Given the description of an element on the screen output the (x, y) to click on. 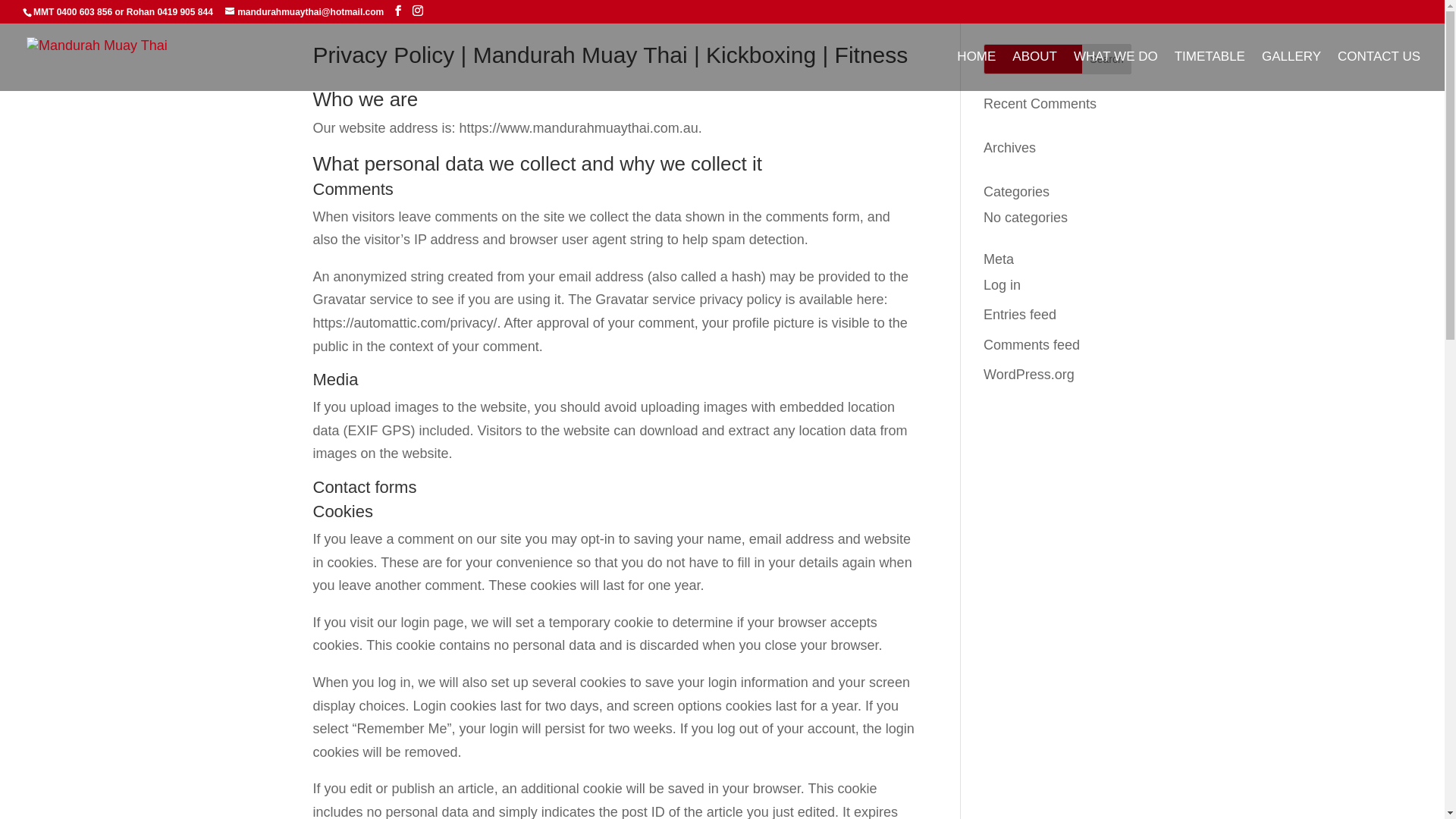
HOME Element type: text (976, 71)
ABOUT Element type: text (1034, 71)
Entries feed Element type: text (1019, 314)
mandurahmuaythai@hotmail.com Element type: text (304, 11)
Log in Element type: text (1001, 284)
WordPress.org Element type: text (1028, 374)
Search Element type: text (1107, 58)
WHAT WE DO Element type: text (1115, 71)
TIMETABLE Element type: text (1209, 71)
GALLERY Element type: text (1291, 71)
Comments feed Element type: text (1031, 344)
CONTACT US Element type: text (1378, 71)
